Given the description of an element on the screen output the (x, y) to click on. 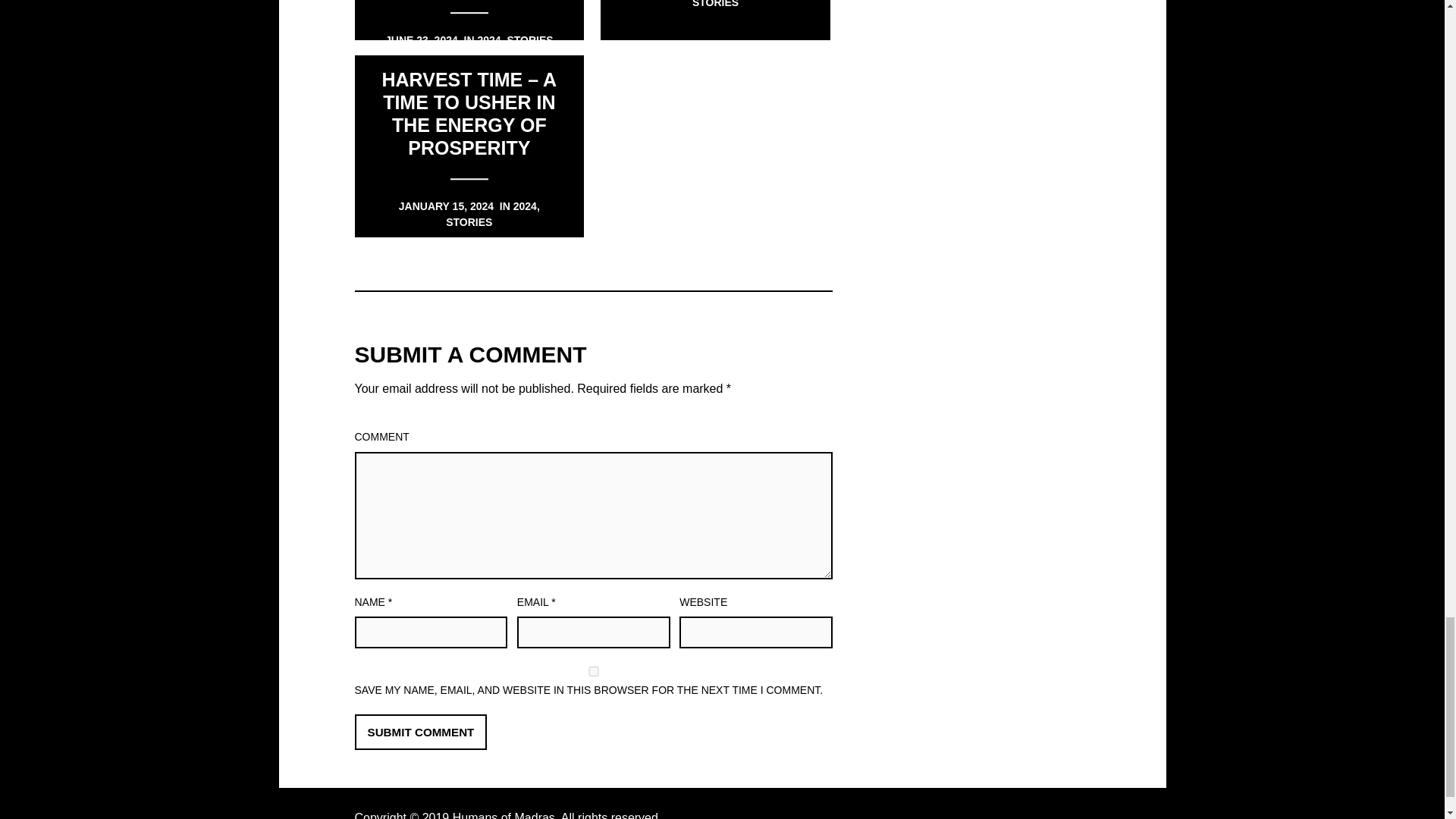
Submit comment (421, 732)
yes (593, 671)
